Given the description of an element on the screen output the (x, y) to click on. 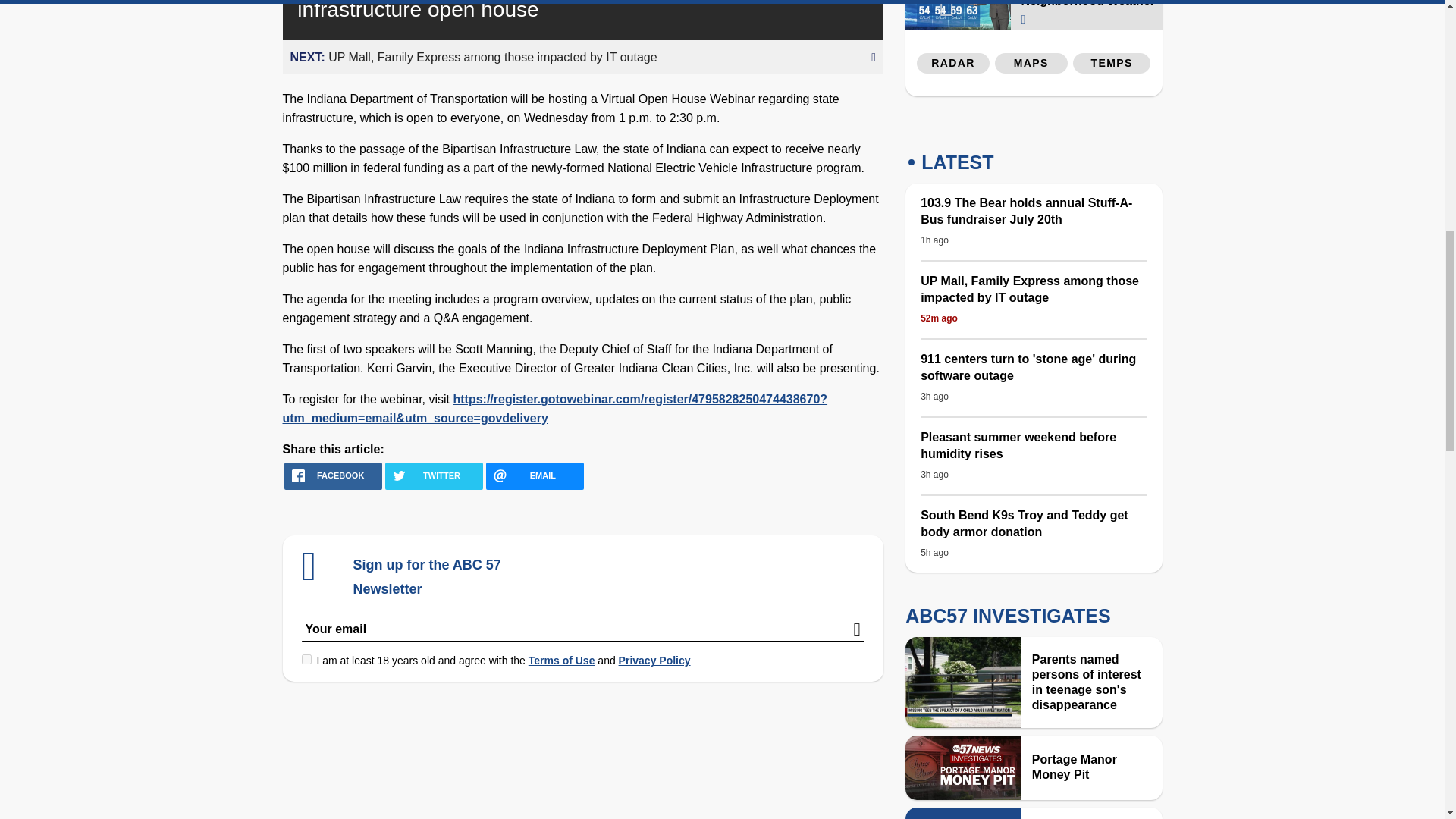
on (306, 659)
